Given the description of an element on the screen output the (x, y) to click on. 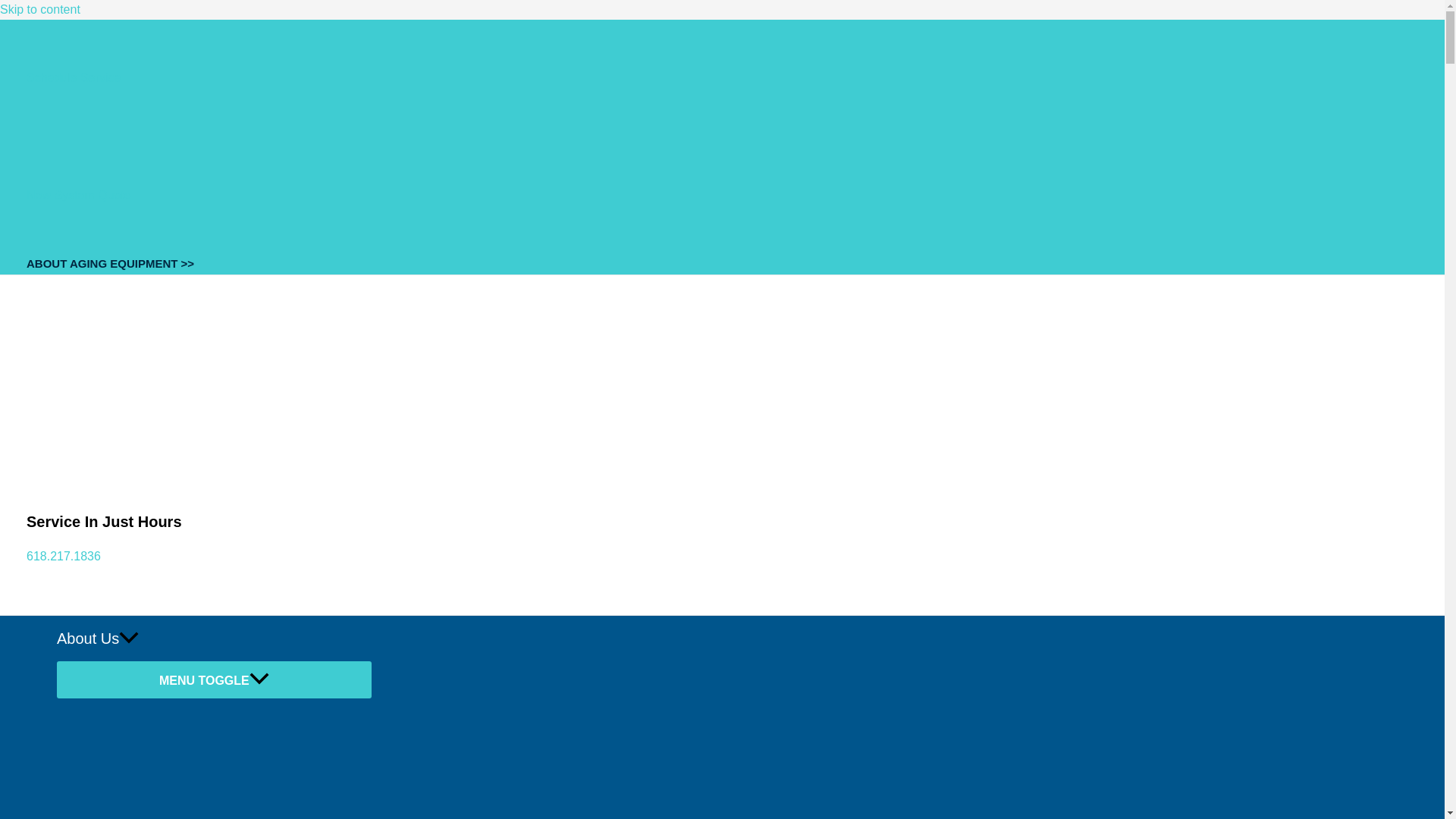
Schedule Service (73, 77)
New System Quote (78, 195)
Skip to content (40, 9)
MENU TOGGLE (213, 679)
About Us (213, 637)
618.217.1836 (63, 555)
